Given the description of an element on the screen output the (x, y) to click on. 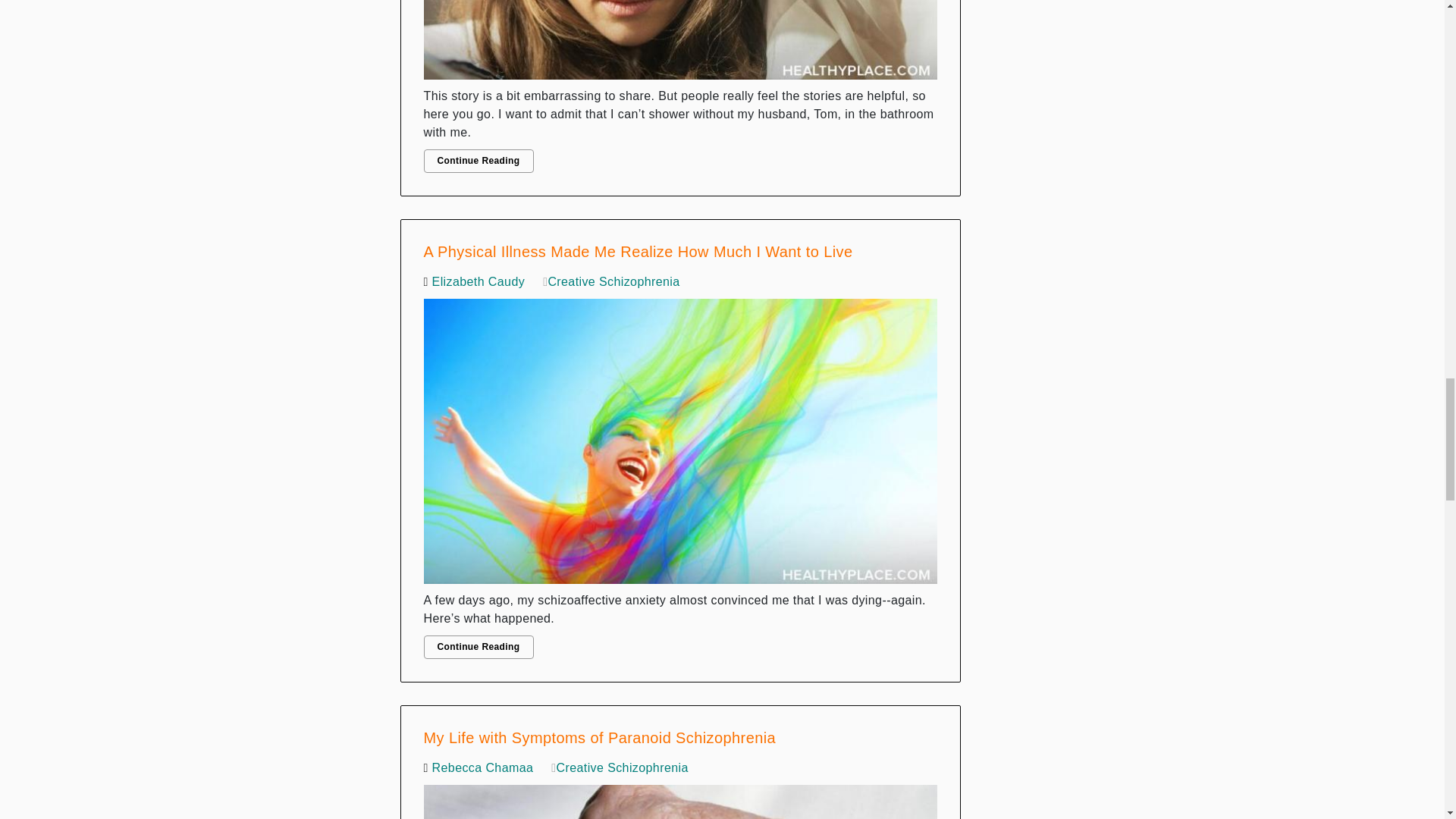
How This Schizoaffective Gets Herself to Shower (680, 43)
My Life with Symptoms of Paranoid Schizophrenia (680, 798)
